Given the description of an element on the screen output the (x, y) to click on. 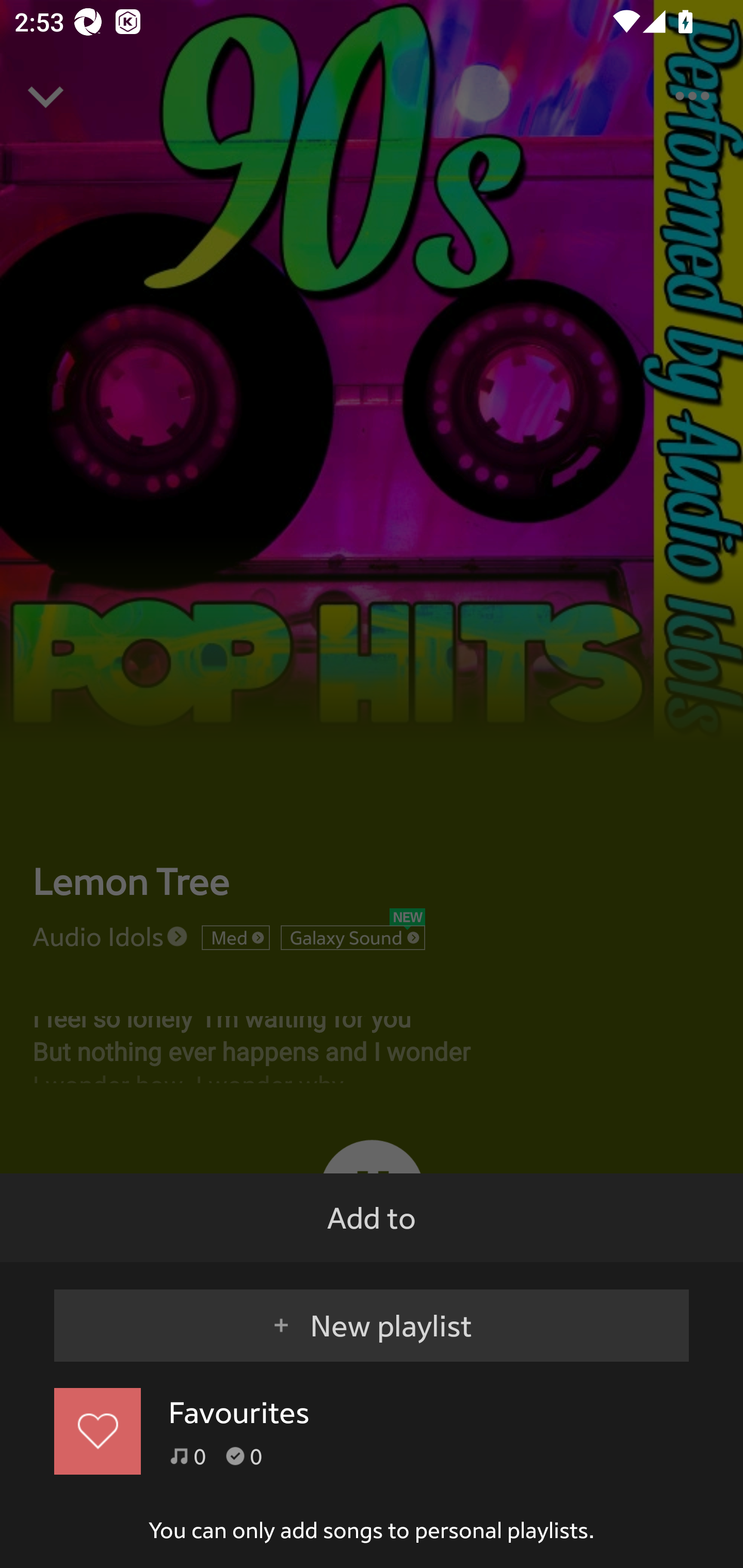
New playlist (371, 1316)
Favourites 0 0 (371, 1431)
You can only add songs to personal playlists. (371, 1530)
